Given the description of an element on the screen output the (x, y) to click on. 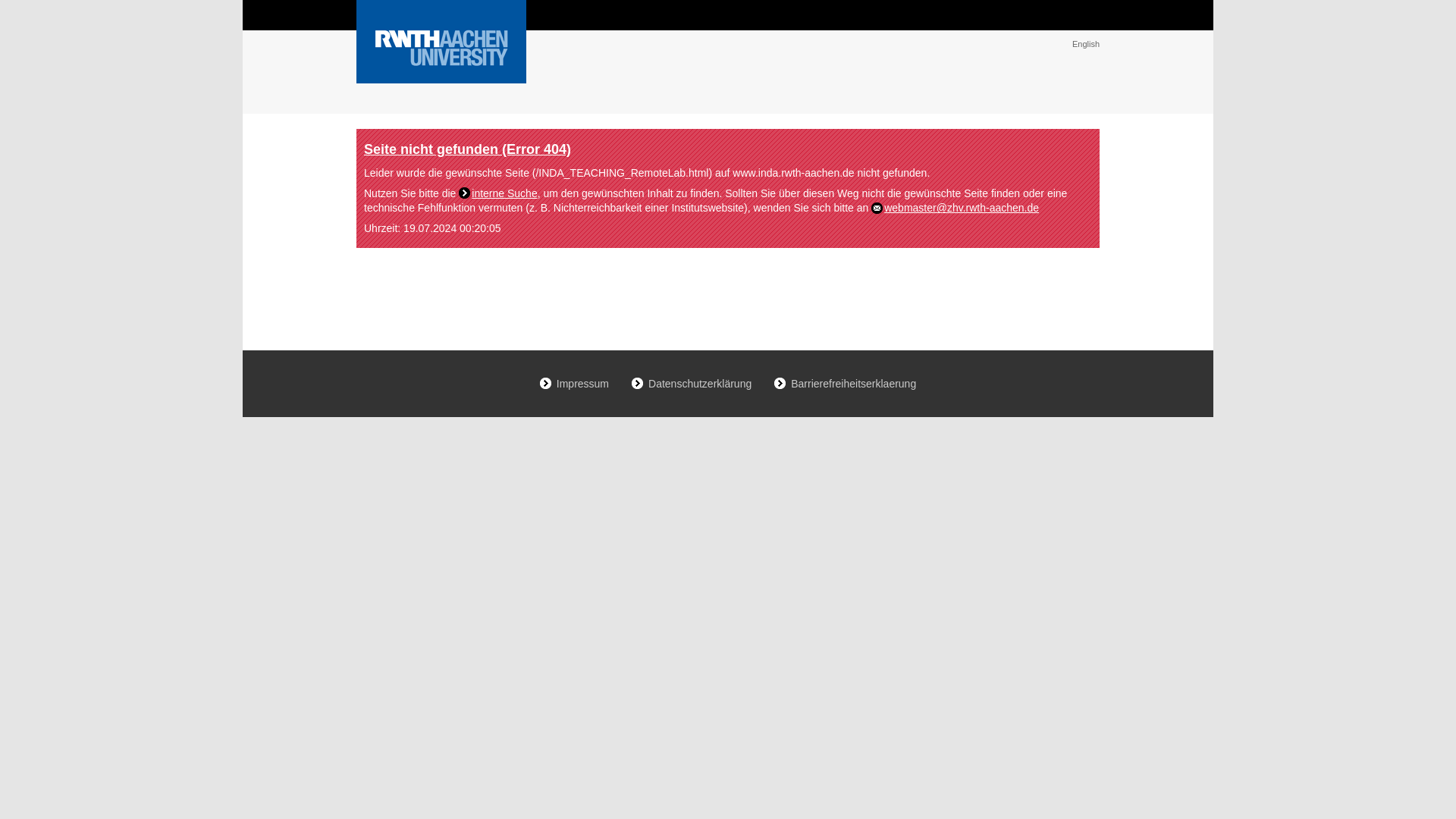
Barrierefreiheitserklaerung (844, 383)
Logo (440, 41)
interne Suche (497, 193)
English (1085, 43)
Impressum (574, 383)
